Given the description of an element on the screen output the (x, y) to click on. 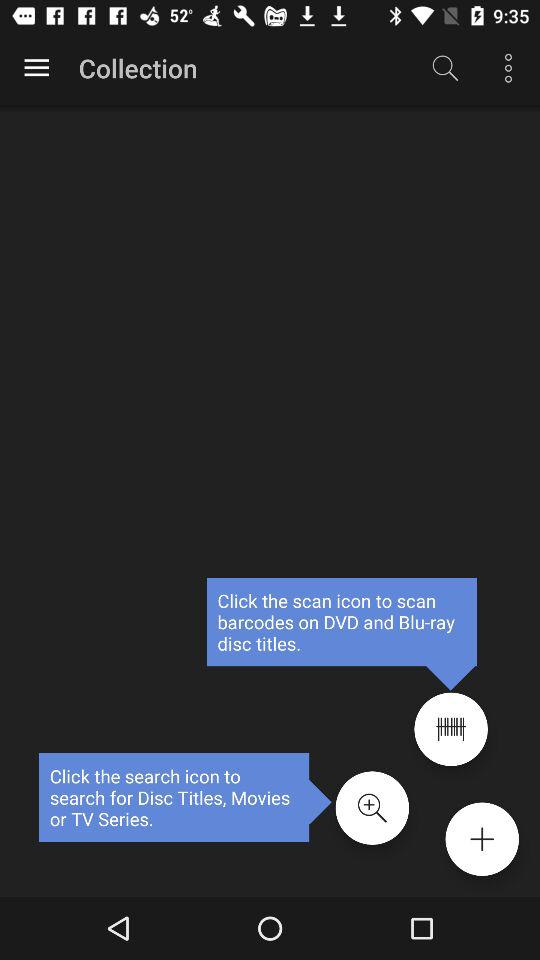
scan barcode (450, 729)
